Given the description of an element on the screen output the (x, y) to click on. 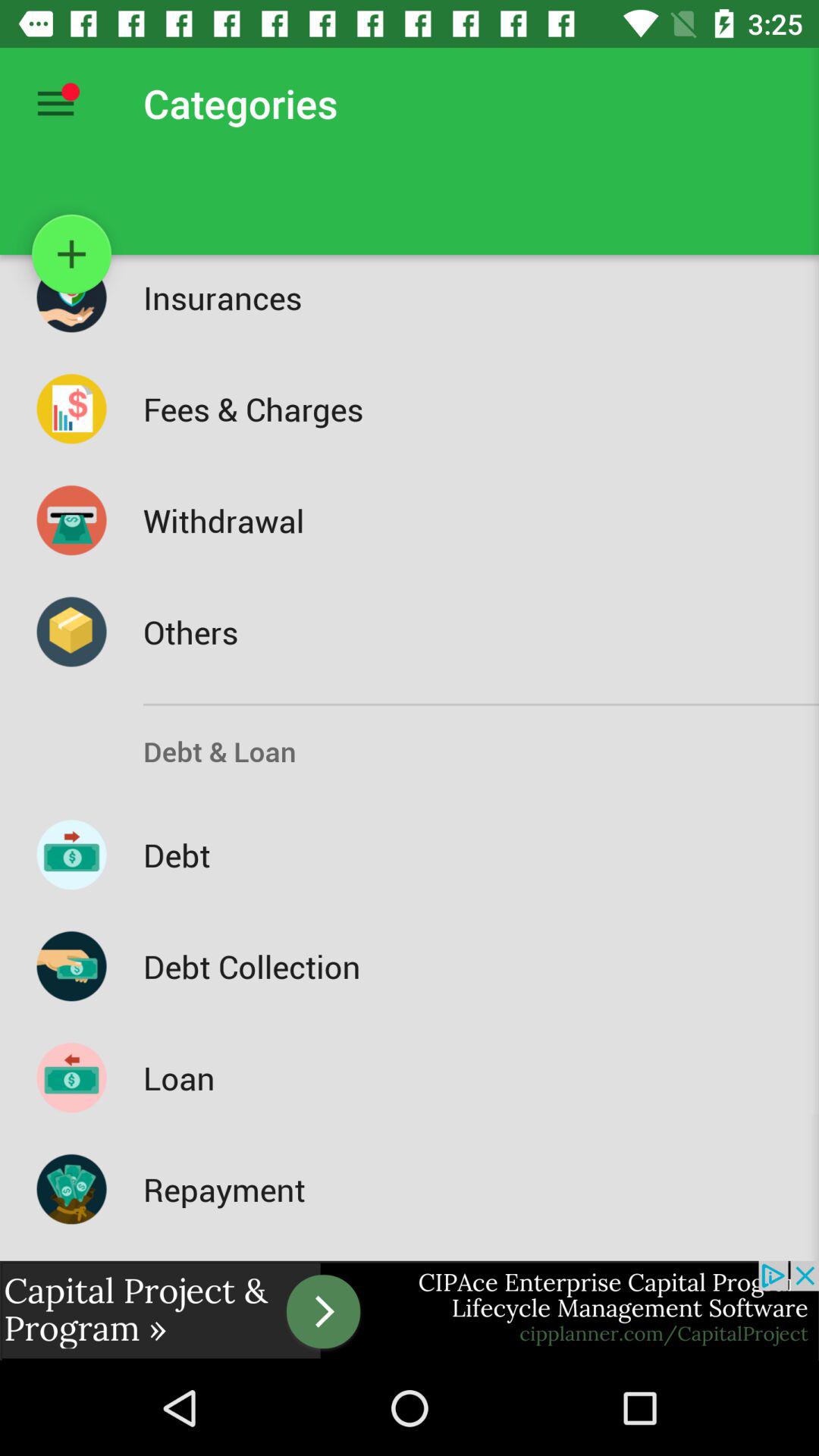
advertisement (409, 1310)
